Given the description of an element on the screen output the (x, y) to click on. 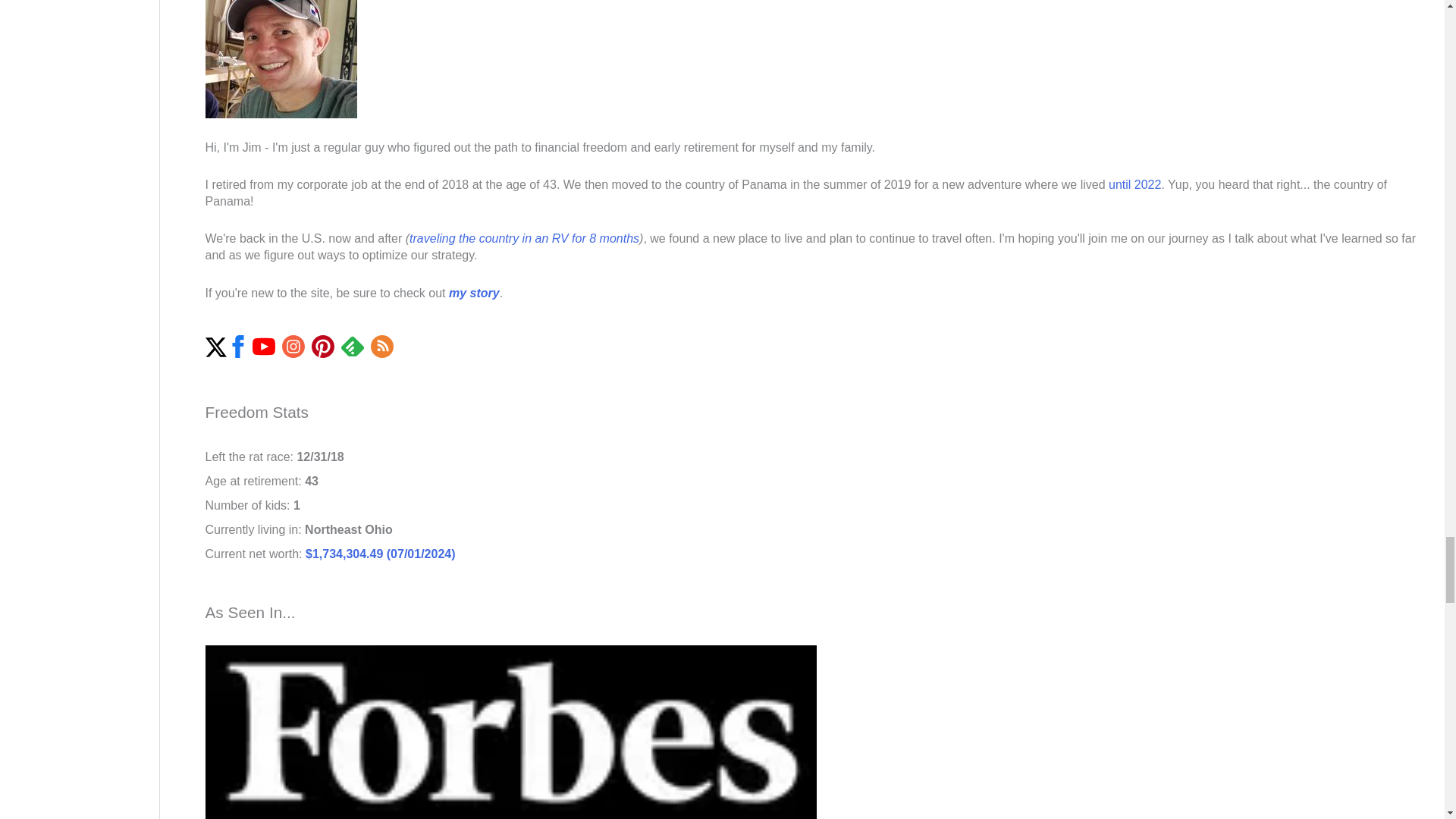
Facebook (236, 345)
Instagram (293, 345)
YouTube (263, 345)
Pinterest (322, 345)
RSS (382, 345)
Feedly (352, 345)
